Given the description of an element on the screen output the (x, y) to click on. 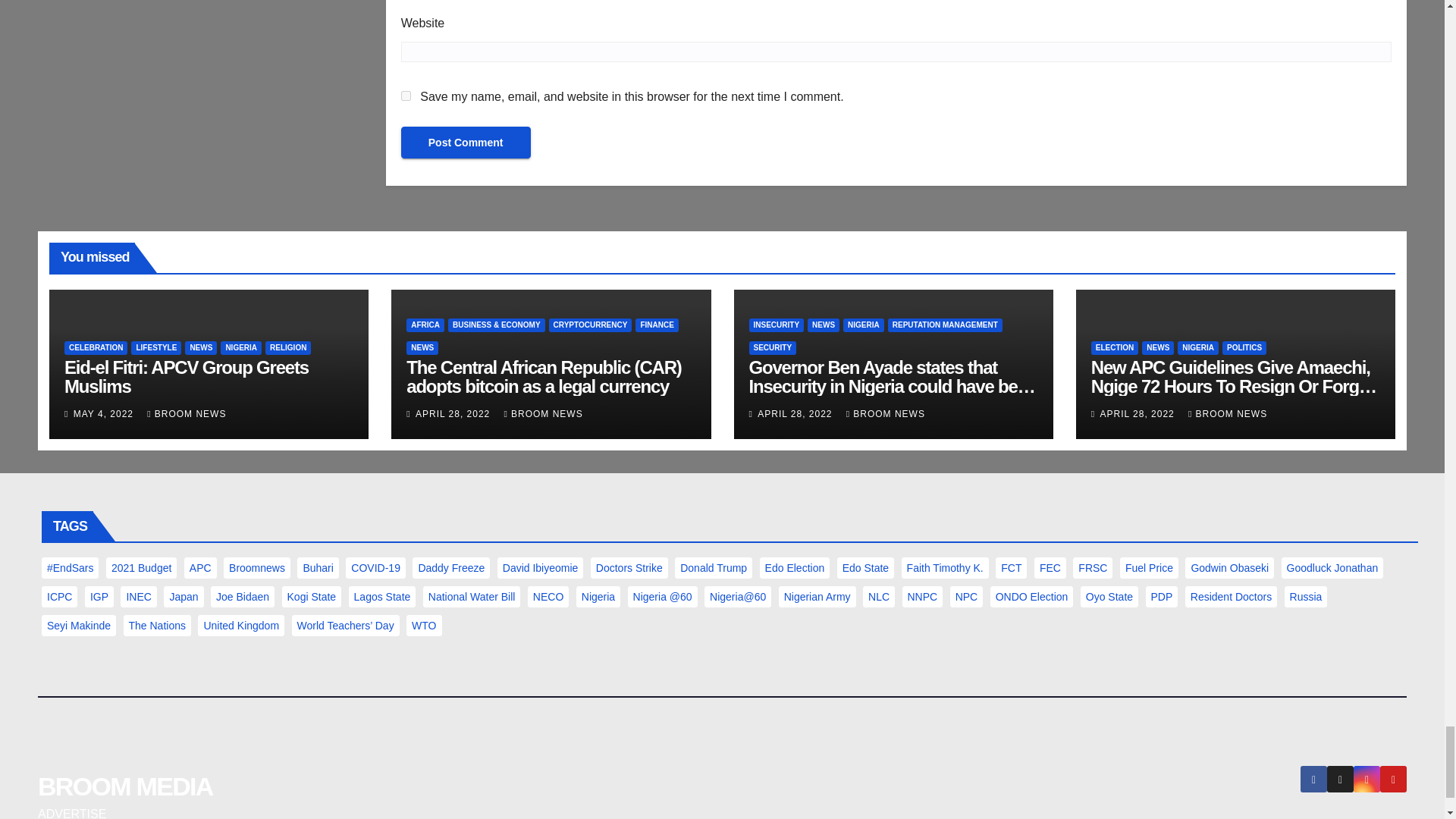
Post Comment (466, 142)
yes (405, 95)
